Given the description of an element on the screen output the (x, y) to click on. 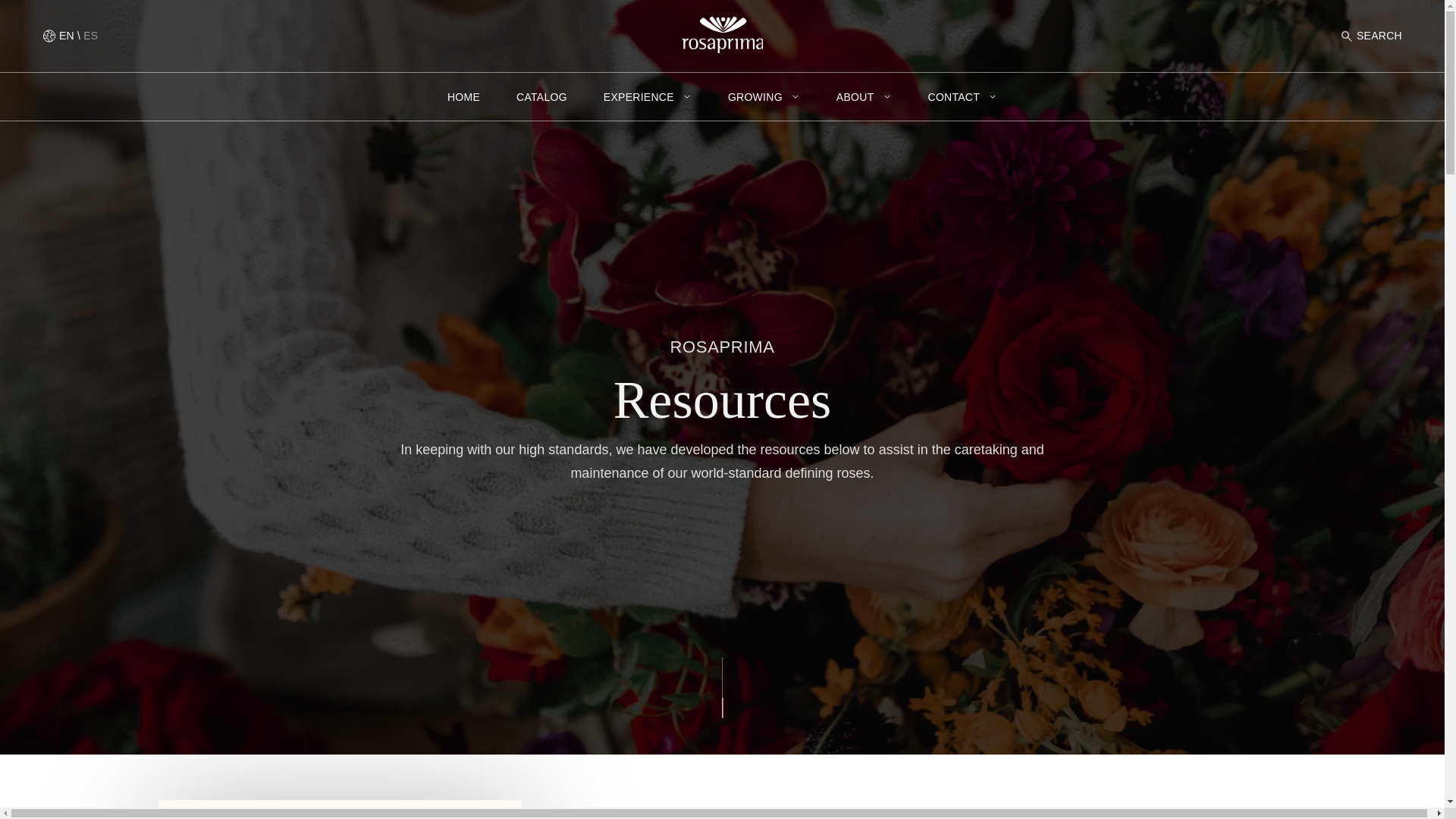
CONTACT (962, 96)
CATALOG (541, 96)
GROWING (763, 96)
ABOUT (863, 96)
EXPERIENCE (647, 96)
